Given the description of an element on the screen output the (x, y) to click on. 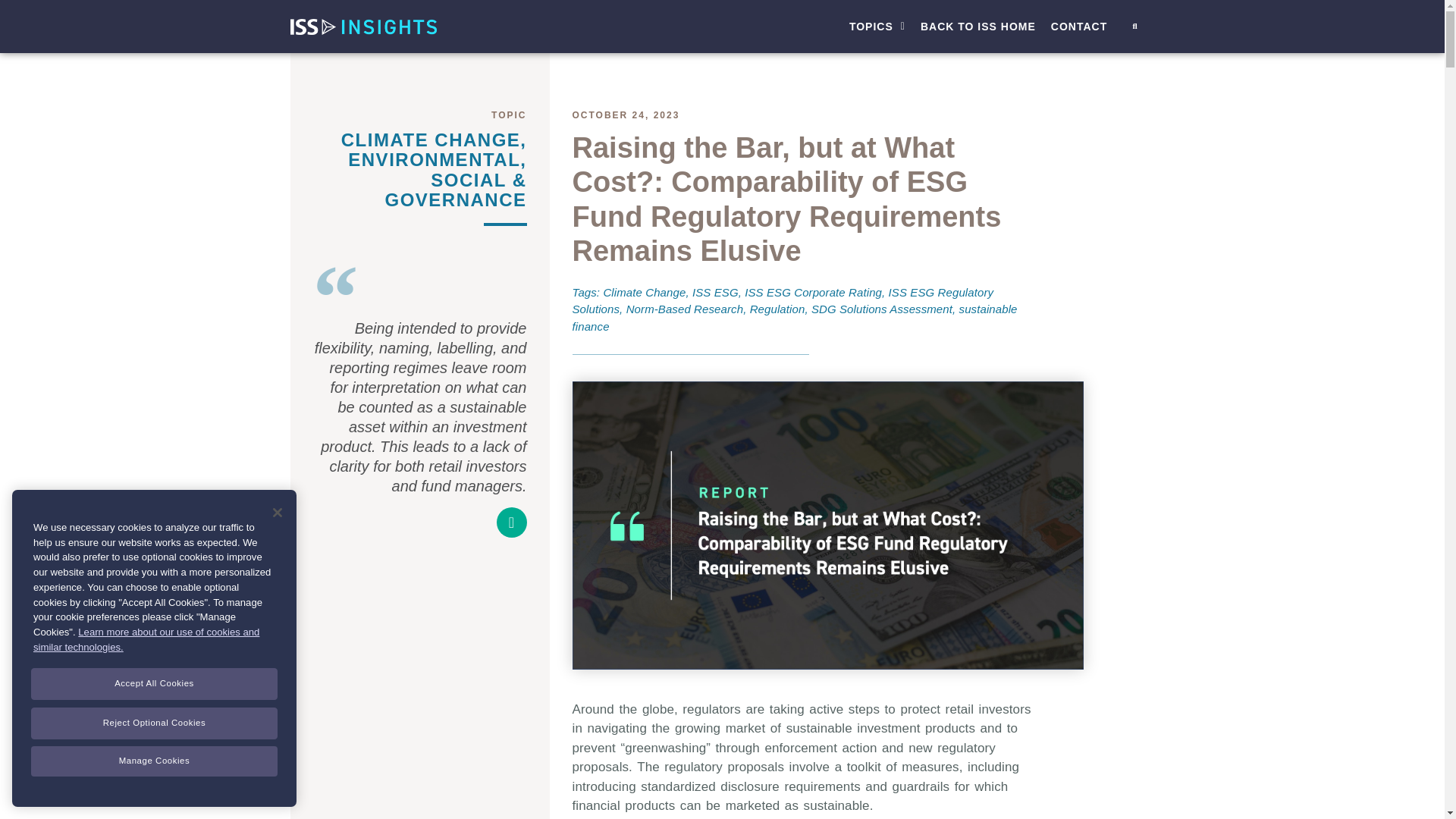
Regulation (777, 308)
ISS ESG Regulatory Solutions (782, 300)
CONTACT (1079, 26)
ISS ESG Corporate Rating (813, 291)
Norm-Based Research (684, 308)
Climate Change (643, 291)
ISS ESG (715, 291)
BACK TO ISS HOME (977, 26)
TOPICS (876, 26)
sustainable finance (794, 317)
SDG Solutions Assessment (881, 308)
CLIMATE CHANGE (430, 138)
